Given the description of an element on the screen output the (x, y) to click on. 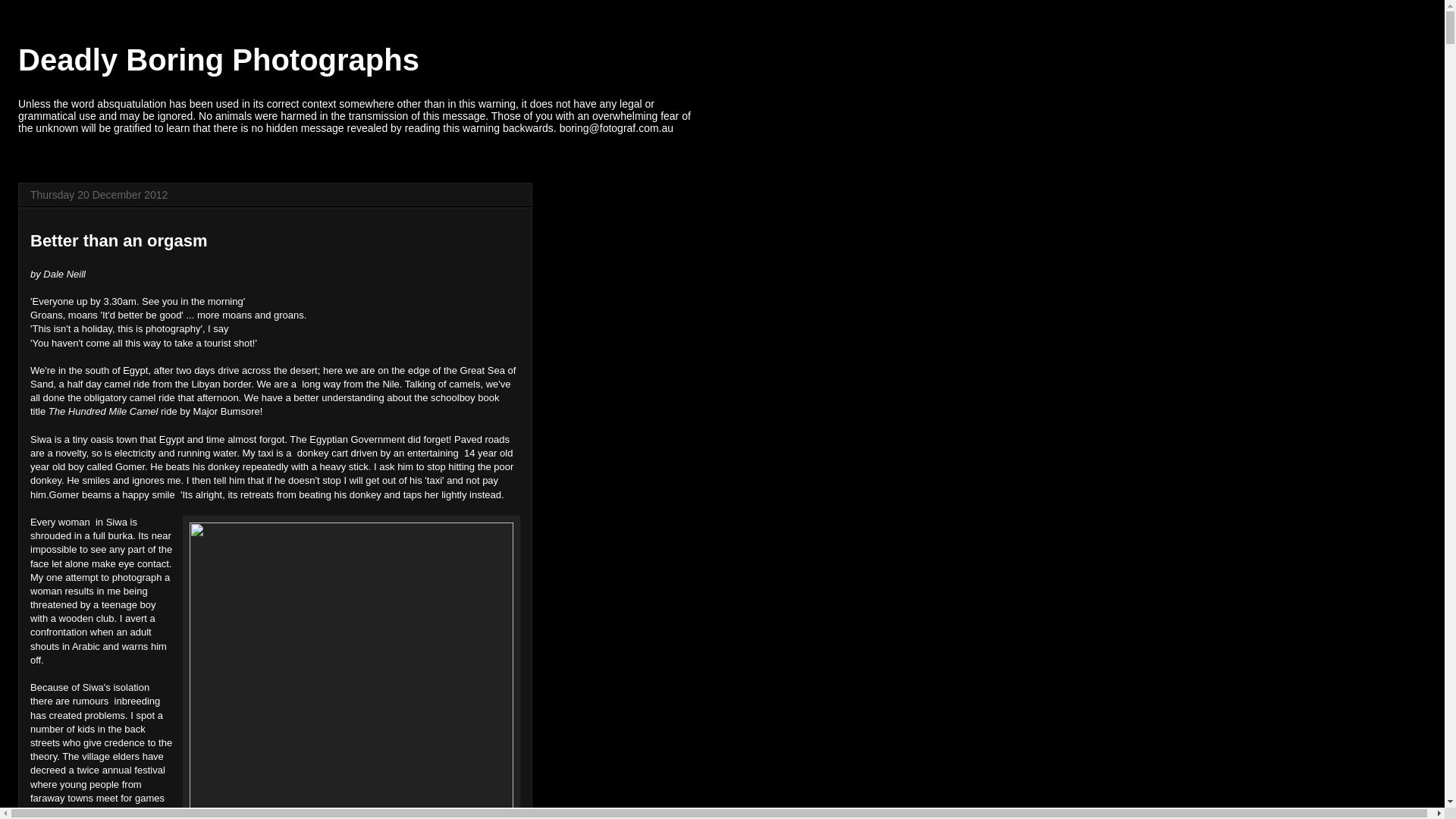
Deadly Boring Photographs Element type: text (218, 59)
Better than an orgasm Element type: text (118, 240)
